Given the description of an element on the screen output the (x, y) to click on. 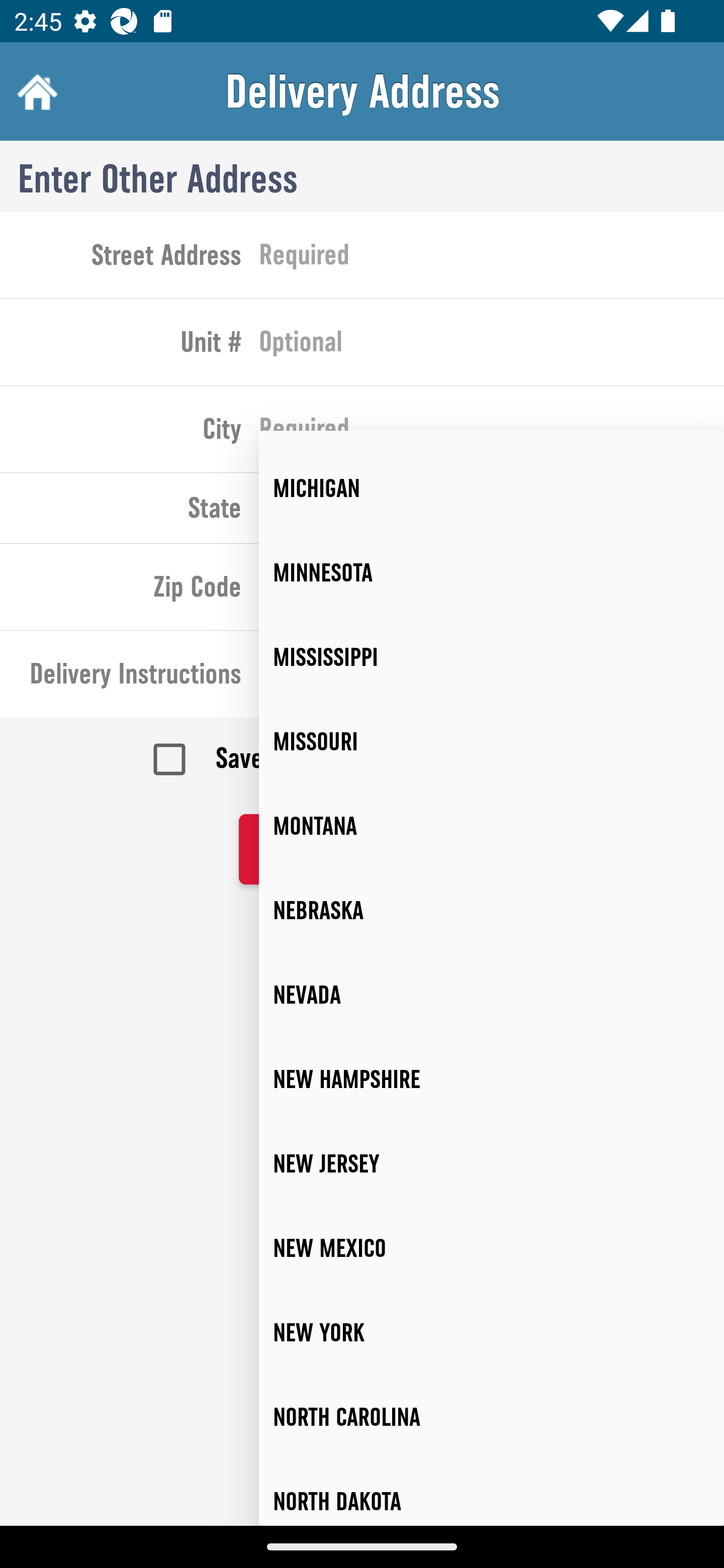
MICHIGAN (491, 487)
MINNESOTA (491, 571)
MISSISSIPPI (491, 656)
MISSOURI (491, 741)
MONTANA (491, 826)
NEBRASKA (491, 910)
NEVADA (491, 995)
NEW HAMPSHIRE (491, 1079)
NEW JERSEY (491, 1163)
NEW MEXICO (491, 1247)
NEW YORK (491, 1332)
NORTH CAROLINA (491, 1417)
NORTH DAKOTA (491, 1492)
